Given the description of an element on the screen output the (x, y) to click on. 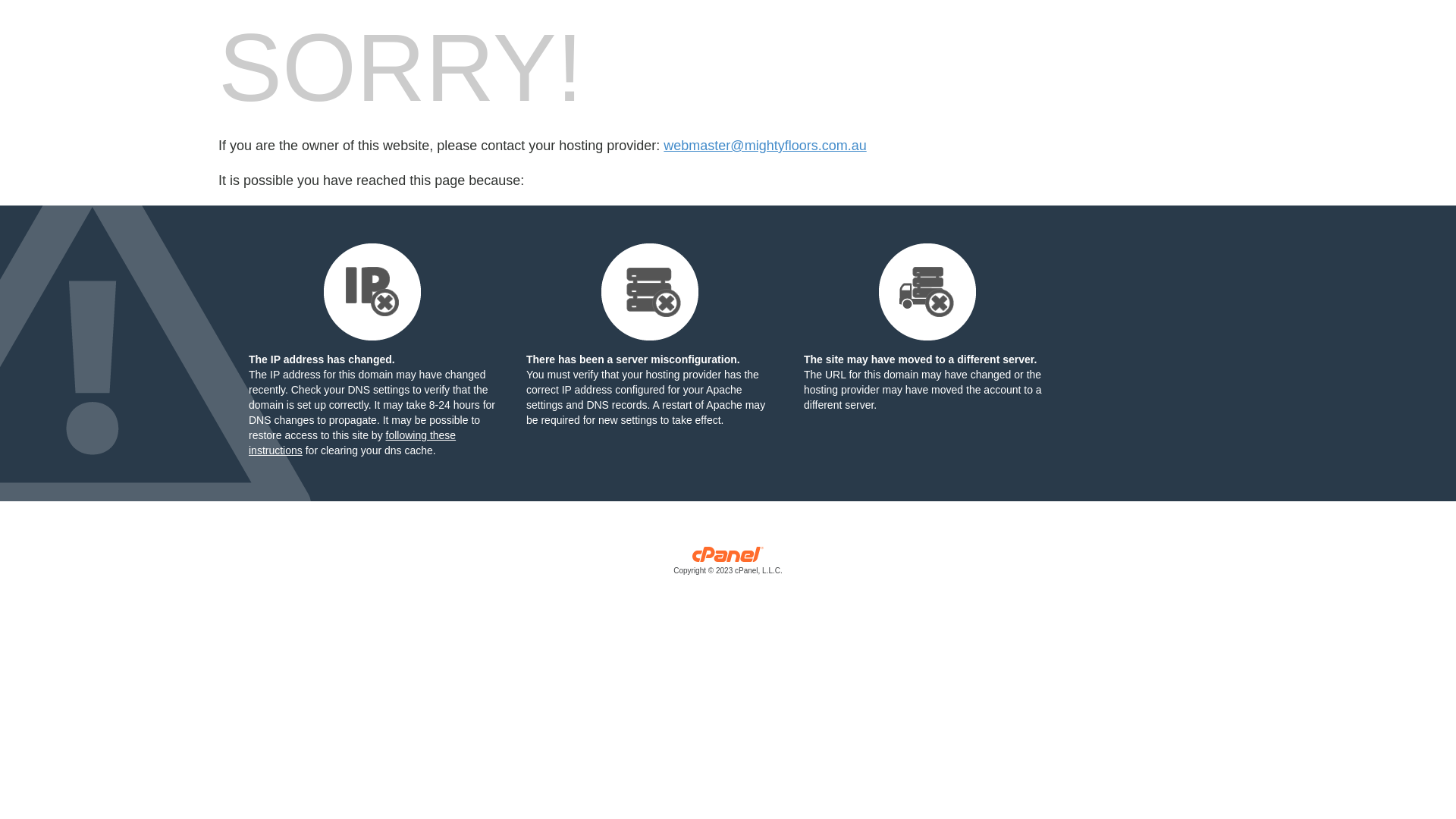
webmaster@mightyfloors.com.au Element type: text (764, 145)
following these instructions Element type: text (351, 442)
